Given the description of an element on the screen output the (x, y) to click on. 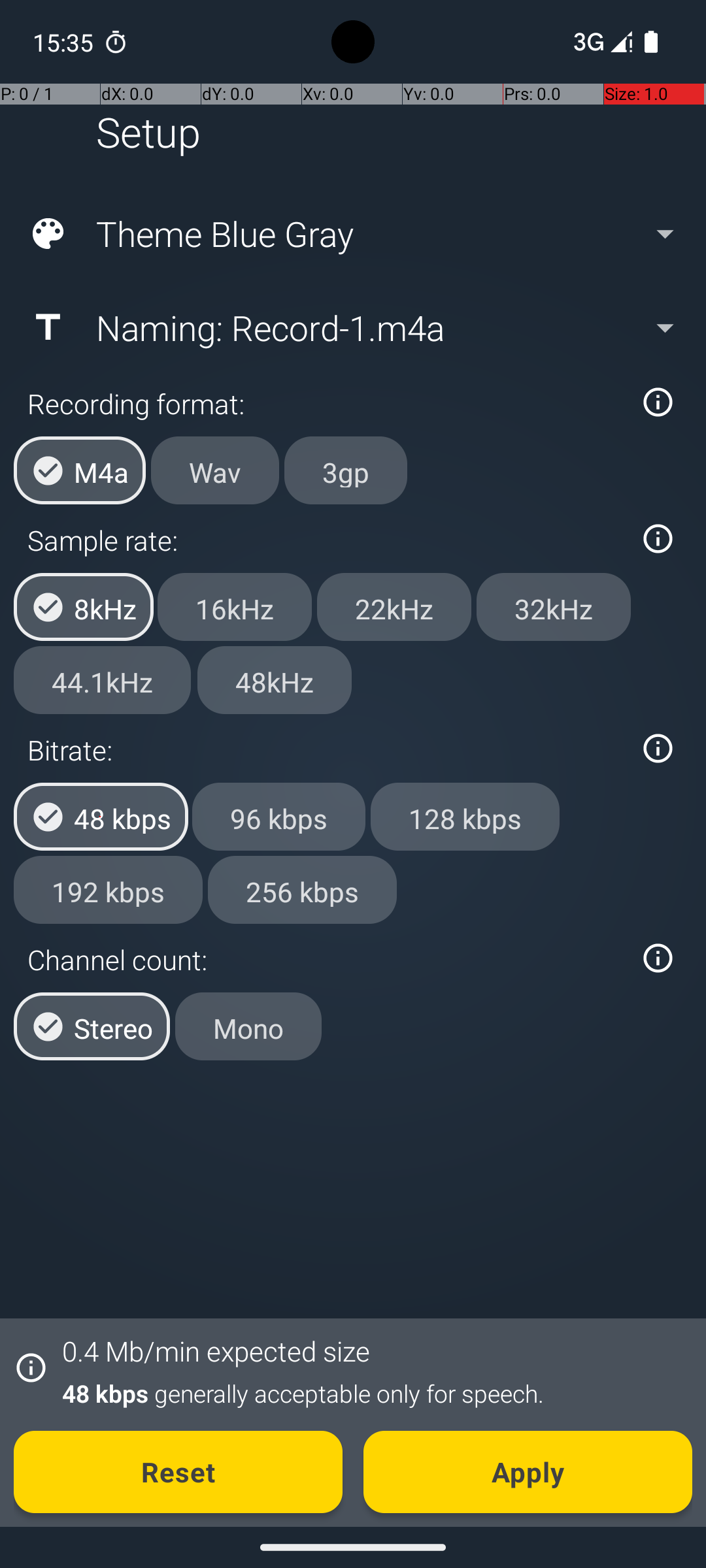
0.4 Mb/min expected size Element type: android.widget.TextView (215, 1350)
48 kbps generally acceptable only for speech. Element type: android.widget.TextView (370, 1392)
